Given the description of an element on the screen output the (x, y) to click on. 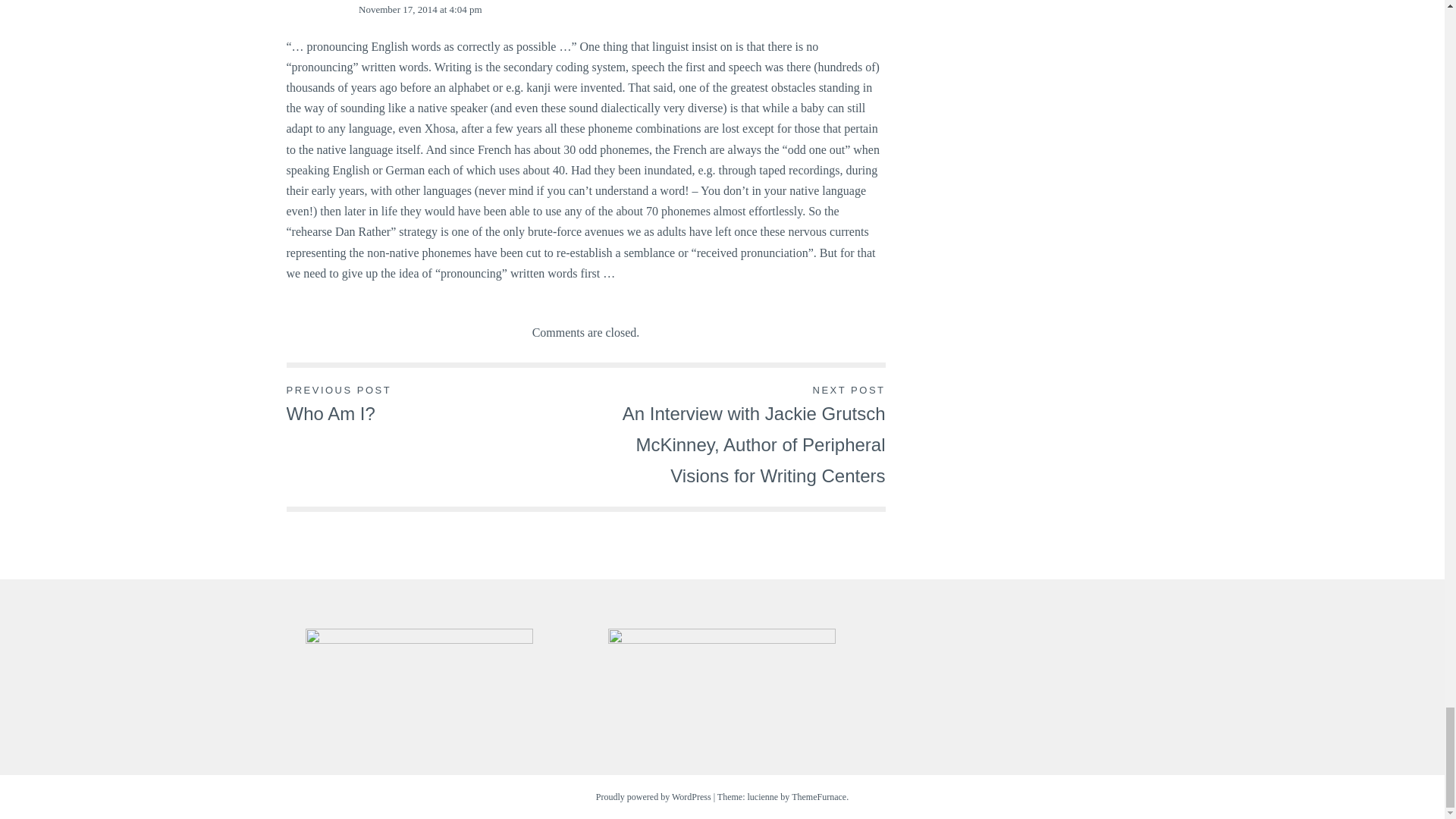
November 17, 2014 at 4:04 pm (419, 9)
Proudly powered by WordPress (653, 796)
